Given the description of an element on the screen output the (x, y) to click on. 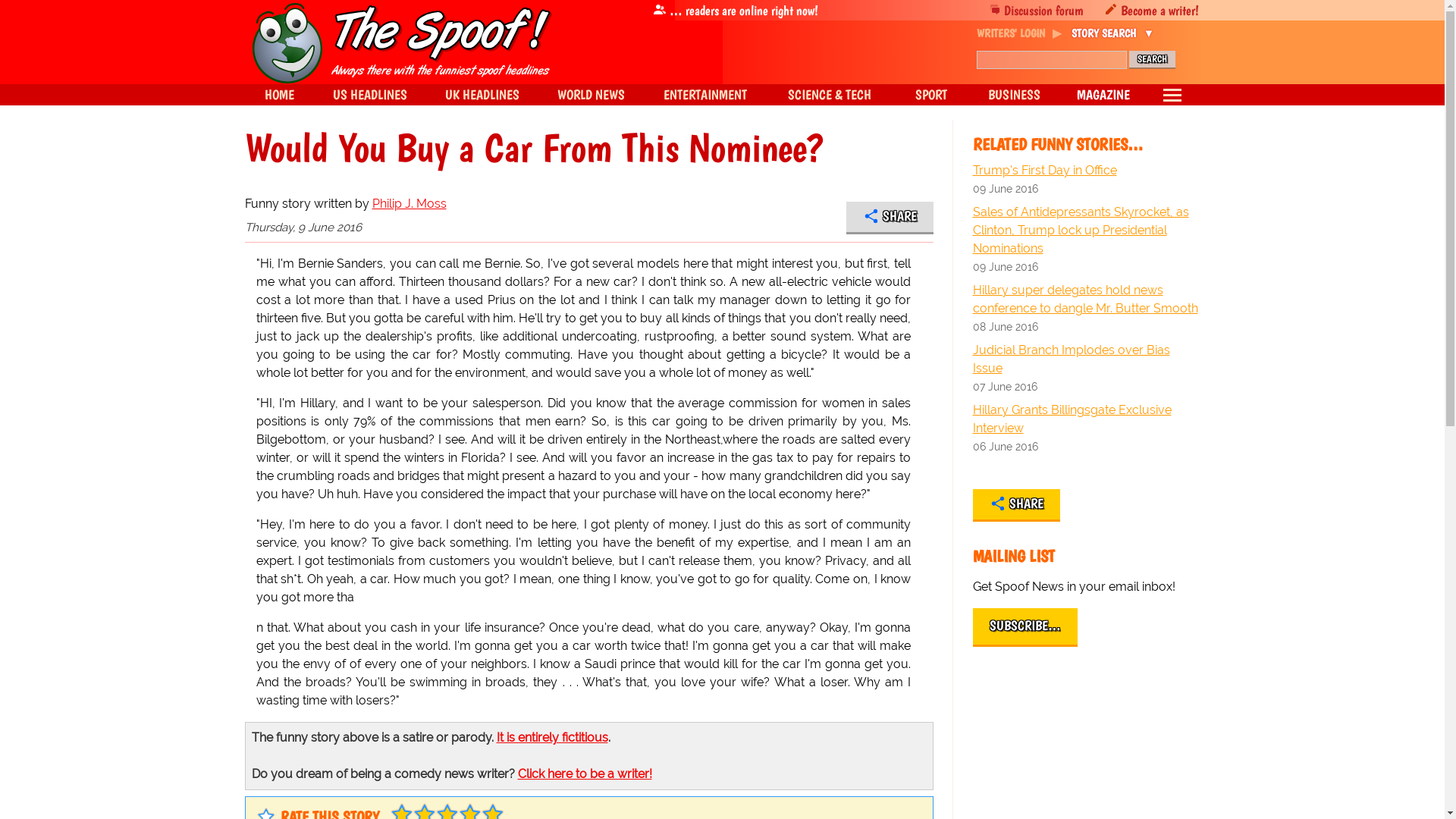
Search (1151, 59)
Satire headlines (278, 94)
ENTERTAINMENT (705, 94)
SPORT (930, 94)
US HEADLINES (370, 94)
Spoof News World News (590, 94)
Judicial Branch Implodes over Bias Issue (1085, 359)
It is entirely fictitious (551, 737)
Click here to be a writer! (583, 773)
UK HEADLINES (482, 94)
